Given the description of an element on the screen output the (x, y) to click on. 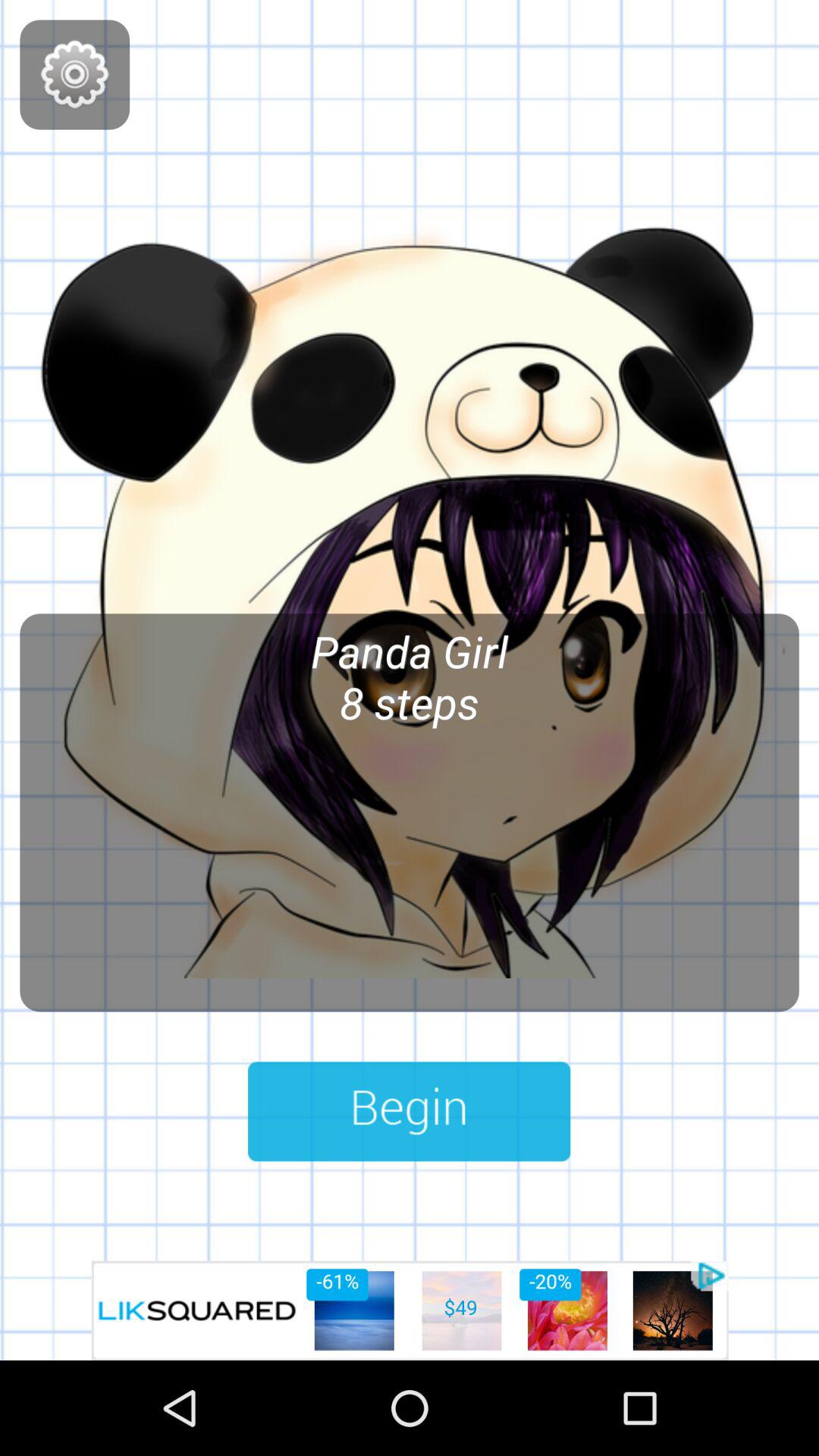
games (74, 74)
